Given the description of an element on the screen output the (x, y) to click on. 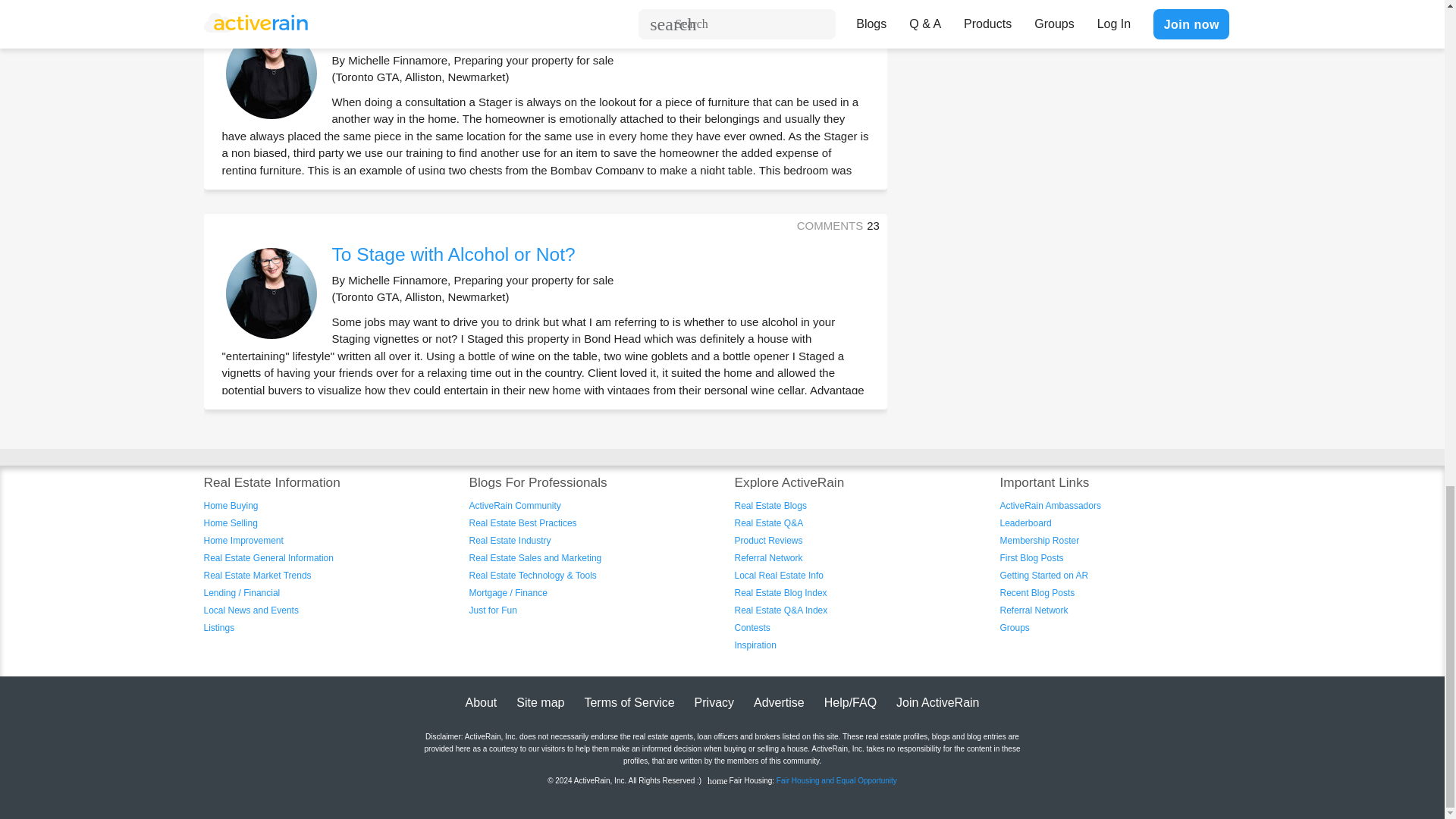
How to Improvise a Night Table (460, 34)
Real Estate Industry (509, 540)
Listings (218, 627)
Real Estate General Information (268, 557)
Local News and Events (250, 610)
ActiveRain Community (514, 505)
Real Estate Best Practices (522, 522)
Home Buying (230, 505)
Home Improvement (242, 540)
Real Estate Market Trends (257, 575)
To Stage with Alcohol or Not? (453, 254)
Home Selling (230, 522)
